Given the description of an element on the screen output the (x, y) to click on. 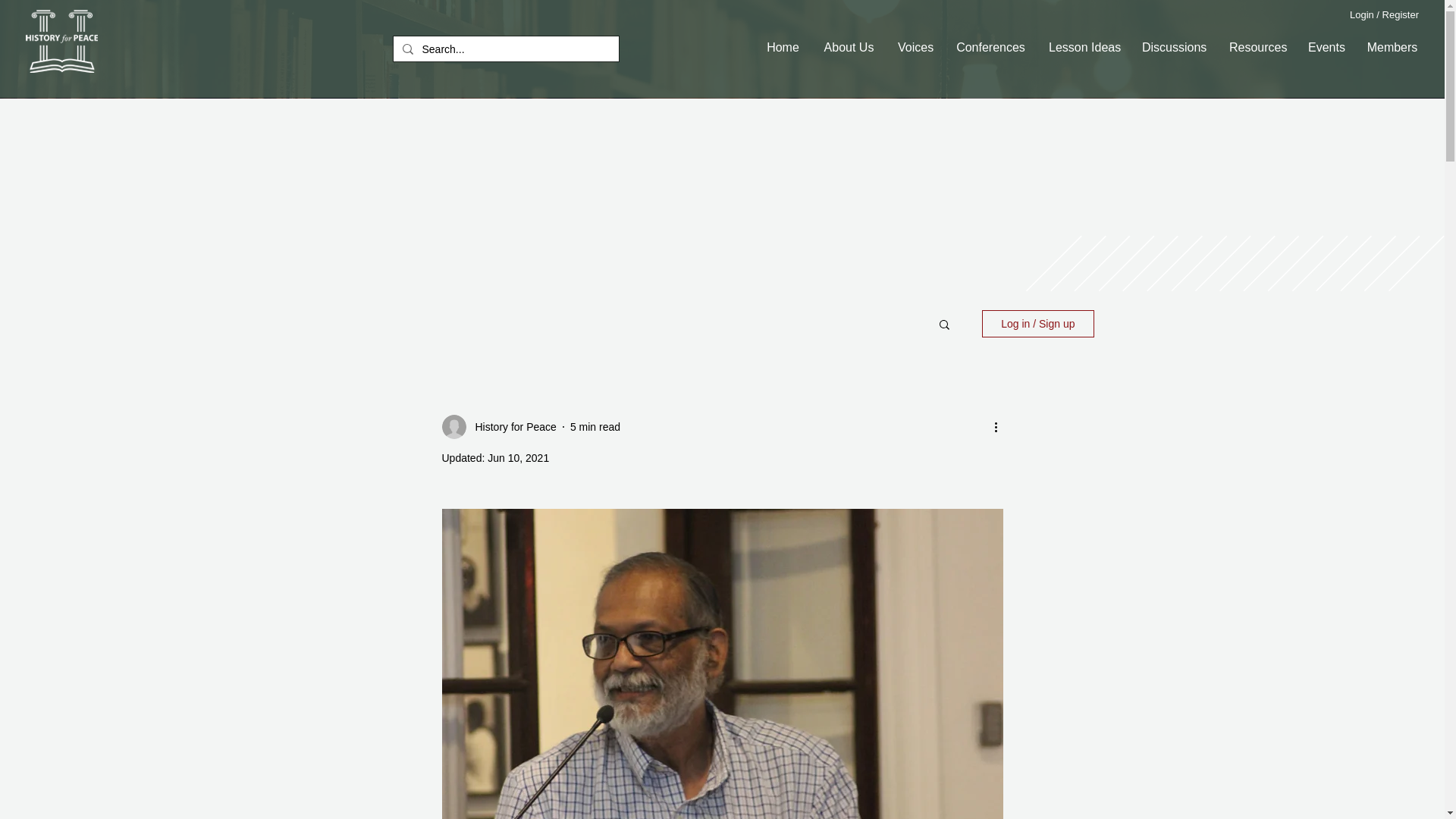
Events (1324, 47)
Discussions (1173, 47)
Conferences (989, 47)
5 min read (595, 426)
Voices (914, 47)
Home (782, 47)
Members (1391, 47)
History for Peace (510, 426)
logo.png (61, 40)
History for Peace (498, 426)
Resources (1256, 47)
Jun 10, 2021 (517, 458)
Lesson Ideas (1082, 47)
About Us (847, 47)
